Given the description of an element on the screen output the (x, y) to click on. 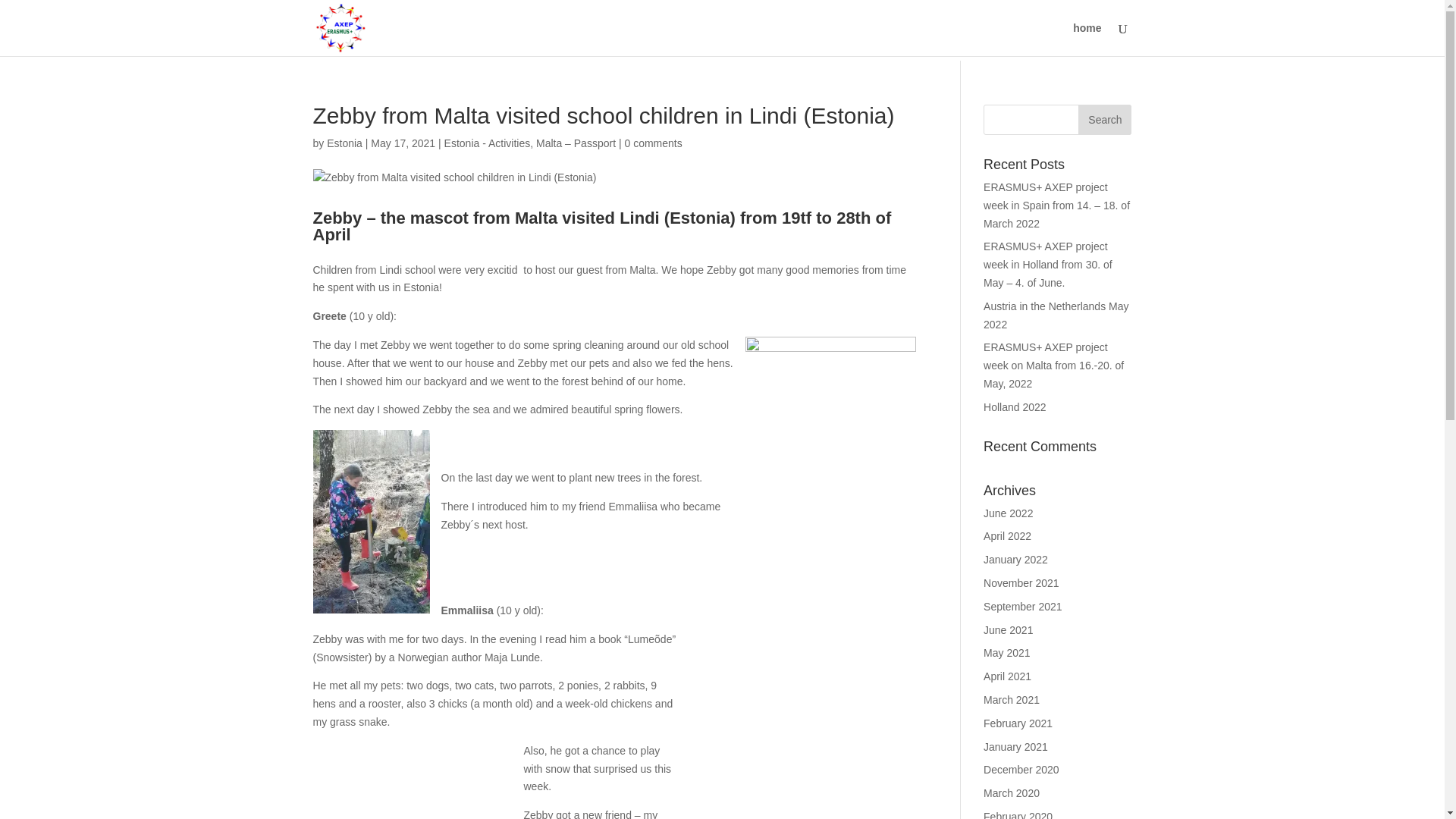
November 2021 (1021, 582)
January 2021 (1016, 746)
0 comments (652, 143)
September 2021 (1023, 606)
April 2021 (1007, 676)
March 2021 (1011, 699)
Holland 2022 (1015, 407)
April 2022 (1007, 535)
February 2021 (1018, 723)
Search (1104, 119)
